Given the description of an element on the screen output the (x, y) to click on. 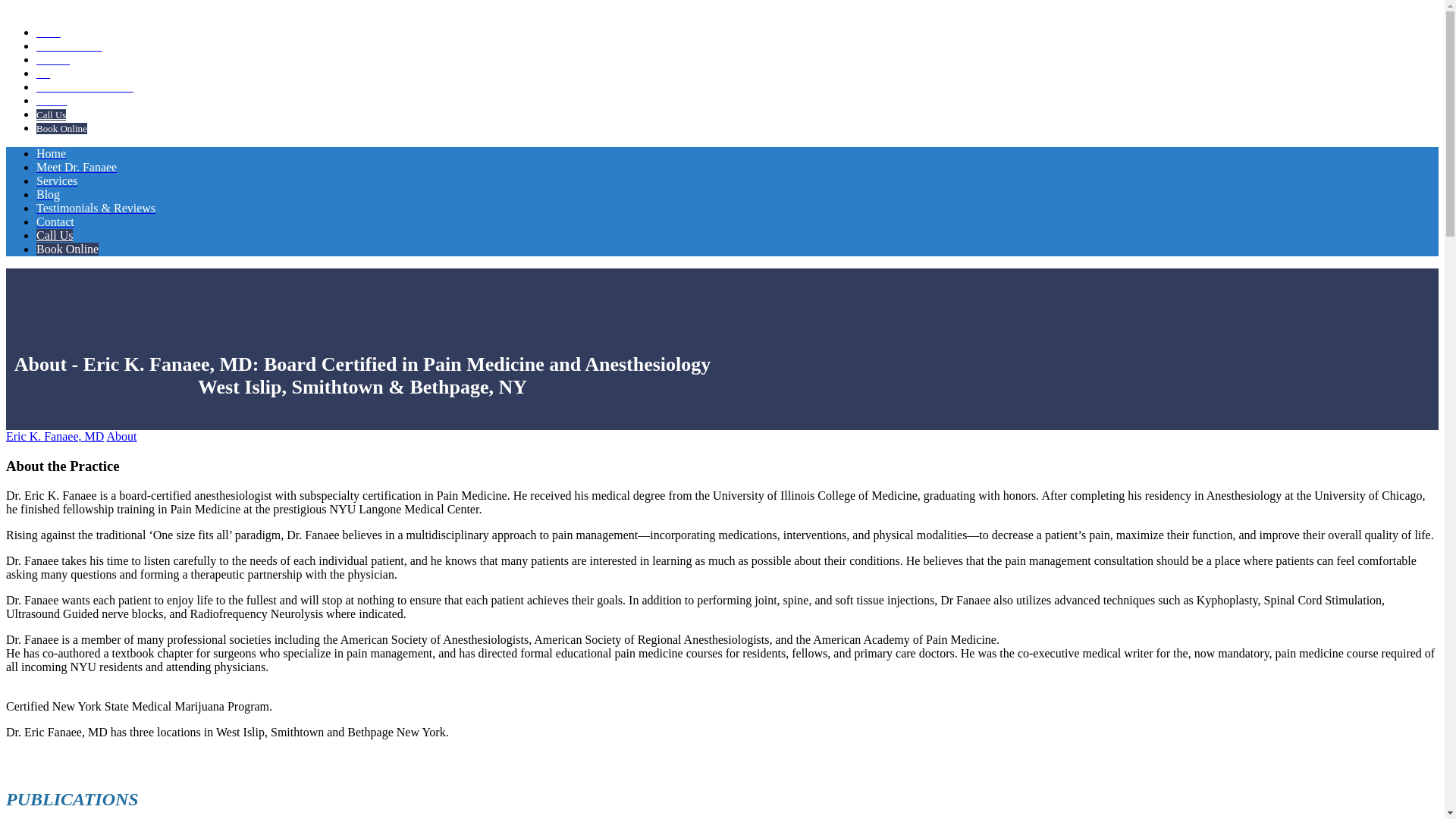
Contact (55, 221)
Meet Dr. Fanaee (68, 46)
About (121, 436)
Meet Dr. Fanaee (76, 166)
Book Online (61, 128)
Call Us (50, 114)
Home (48, 32)
Blog (47, 194)
Book Online (67, 248)
Home (50, 153)
